Given the description of an element on the screen output the (x, y) to click on. 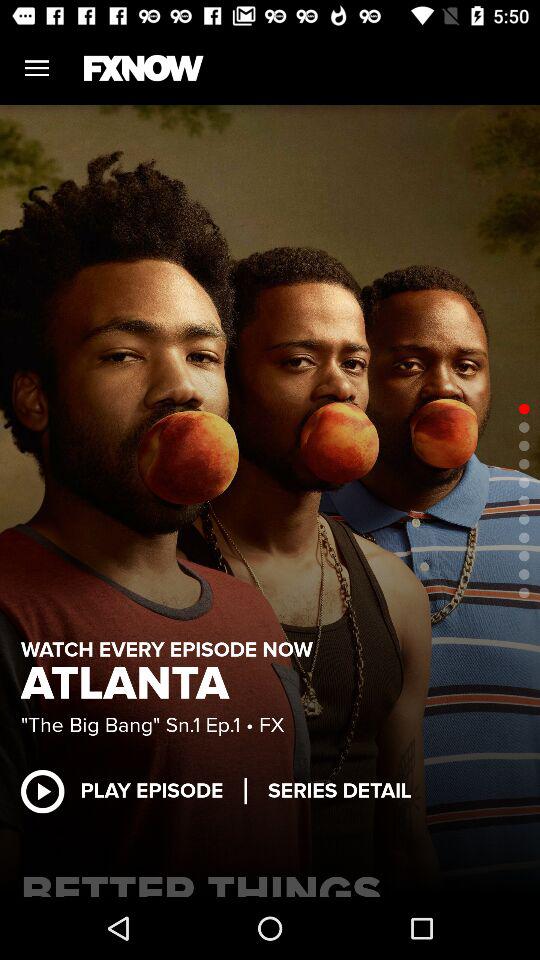
turn off the item below the play episode item (270, 880)
